Given the description of an element on the screen output the (x, y) to click on. 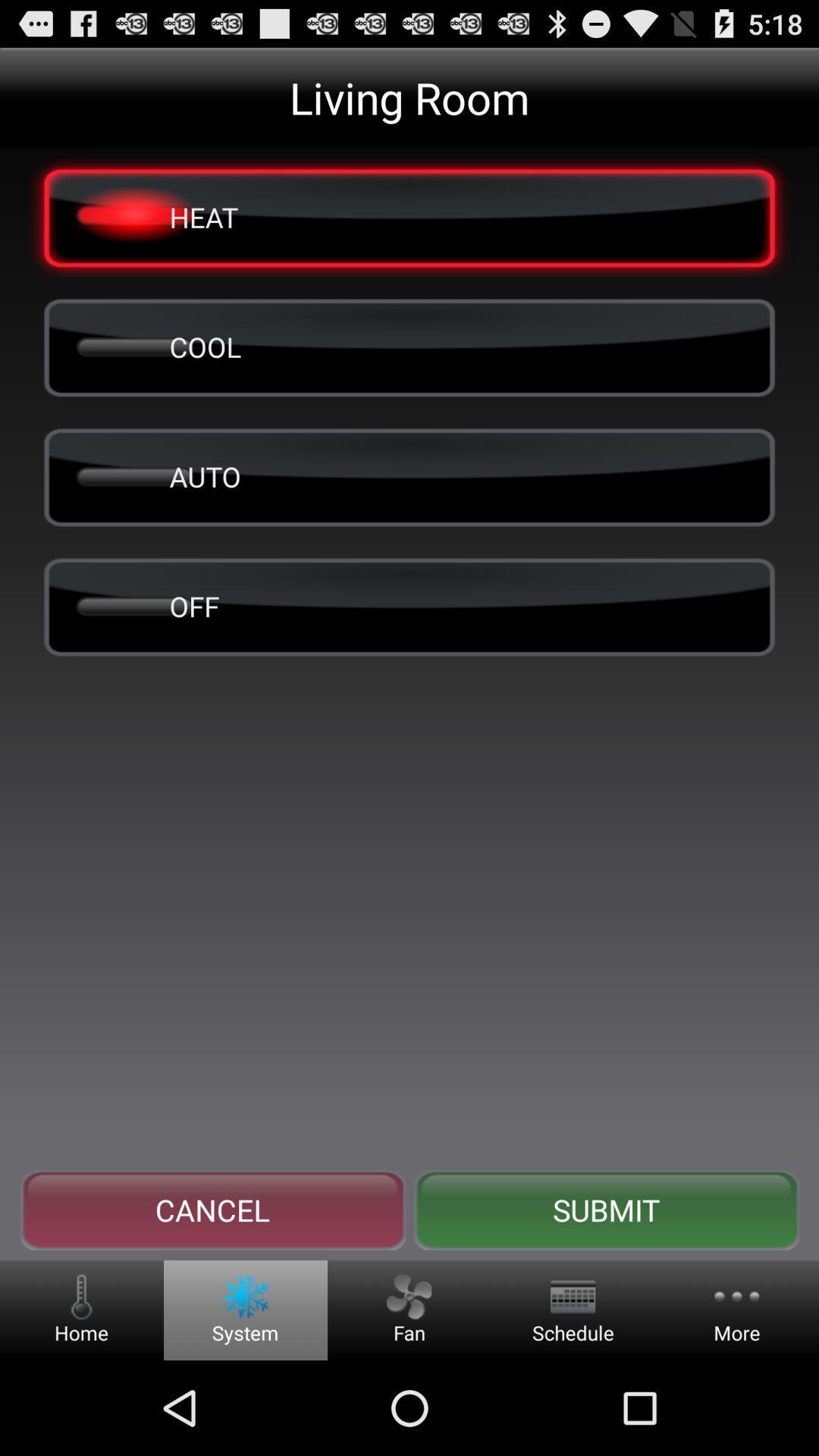
click item below the cool (409, 476)
